Given the description of an element on the screen output the (x, y) to click on. 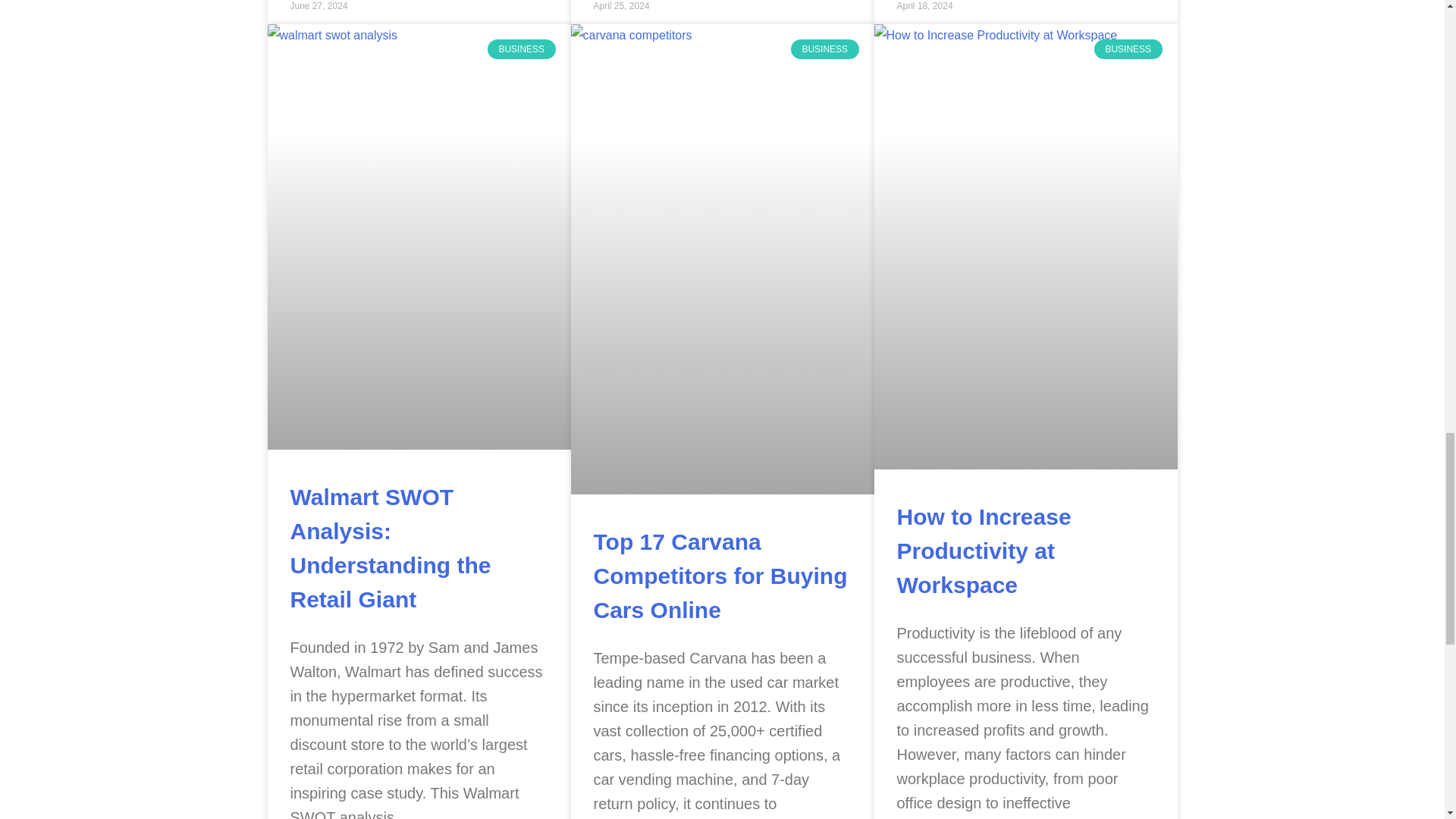
Top 17 Carvana Competitors for Buying Cars Online (719, 575)
How to Increase Productivity at Workspace (983, 550)
Walmart SWOT Analysis: Understanding the Retail Giant (389, 547)
